Given the description of an element on the screen output the (x, y) to click on. 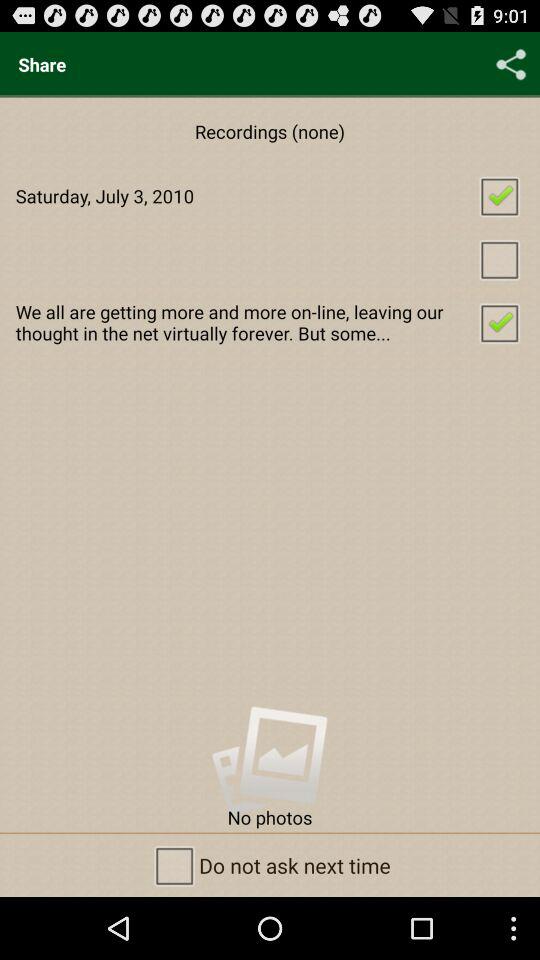
jump until we all are checkbox (269, 322)
